Given the description of an element on the screen output the (x, y) to click on. 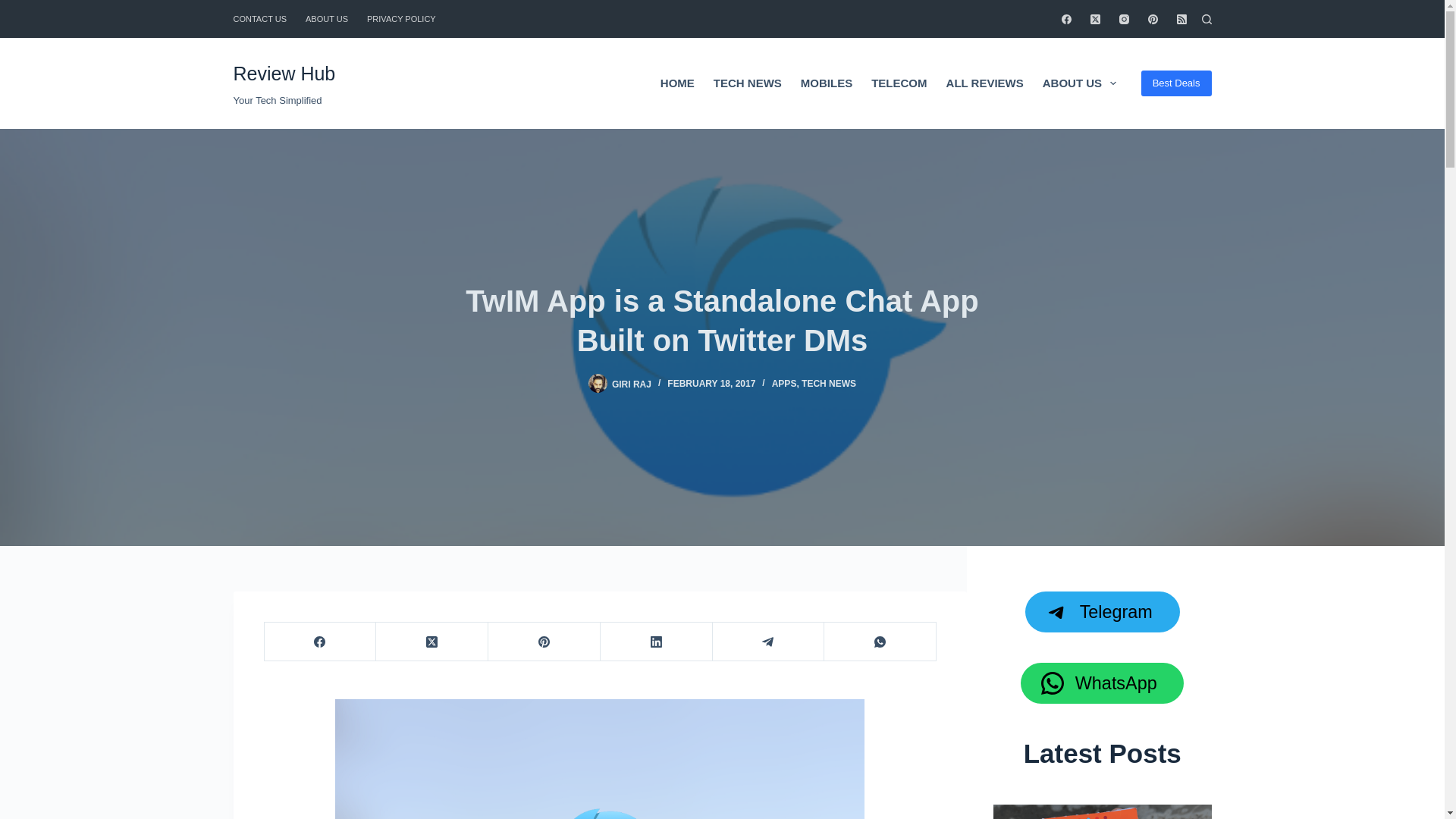
TELECOM (898, 82)
HOME (676, 82)
ABOUT US (325, 18)
TwIM App is a Standalone Chat App Built on Twitter DMs 1 (599, 759)
CONTACT US (264, 18)
ALL REVIEWS (984, 82)
TECH NEWS (746, 82)
Posts by Giri Raj (630, 383)
MOBILES (825, 82)
PRIVACY POLICY (401, 18)
Best Deals (1176, 83)
TwIM App is a Standalone Chat App Built on Twitter DMs (722, 319)
ABOUT US (1078, 82)
Skip to content (15, 7)
Review Hub (284, 73)
